Given the description of an element on the screen output the (x, y) to click on. 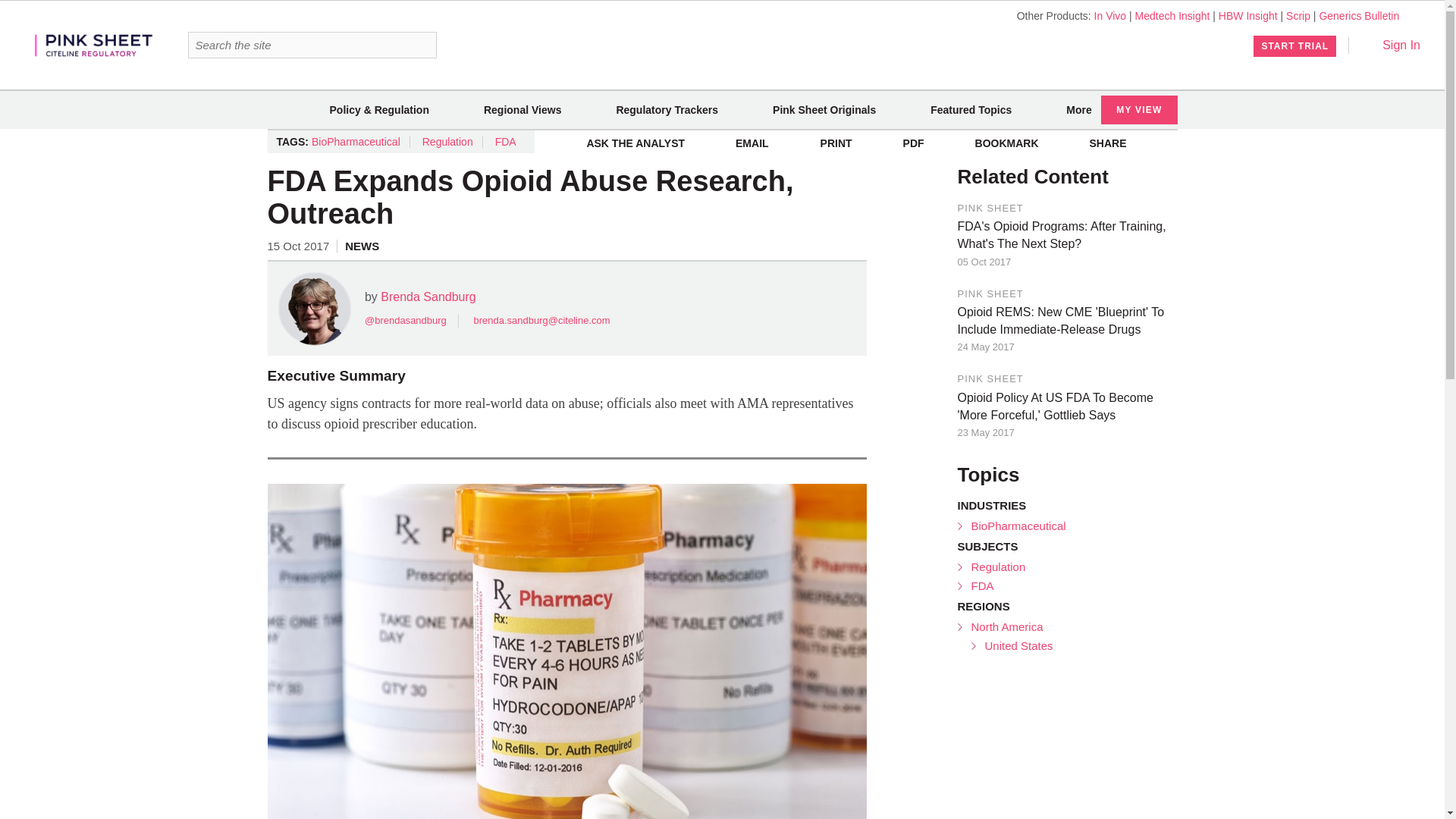
Sign In (1391, 44)
Generics Bulletin (1359, 15)
Medtech Insight (1172, 15)
Scrip (1297, 15)
HBW Insight (1248, 15)
In Vivo (1110, 15)
START TRIAL (1294, 46)
